Given the description of an element on the screen output the (x, y) to click on. 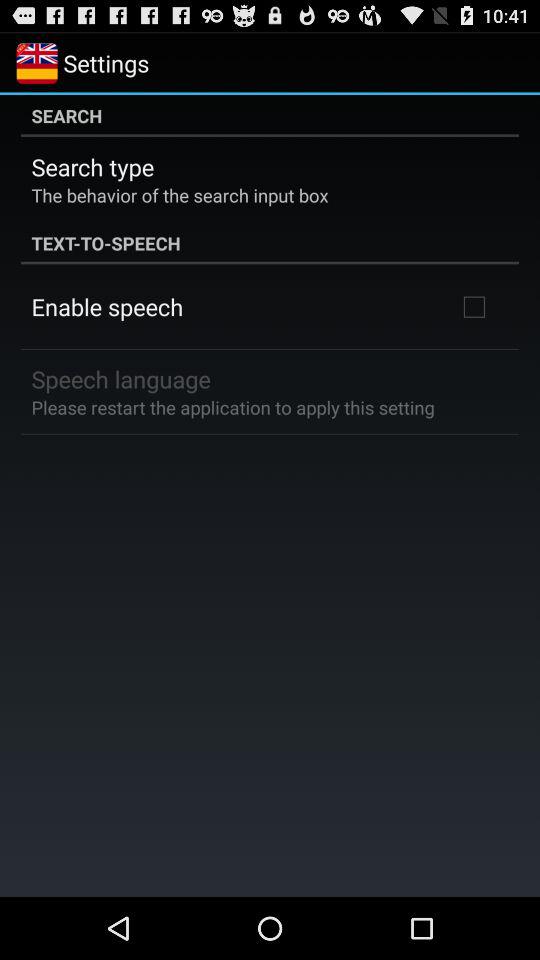
launch please restart the (232, 406)
